Given the description of an element on the screen output the (x, y) to click on. 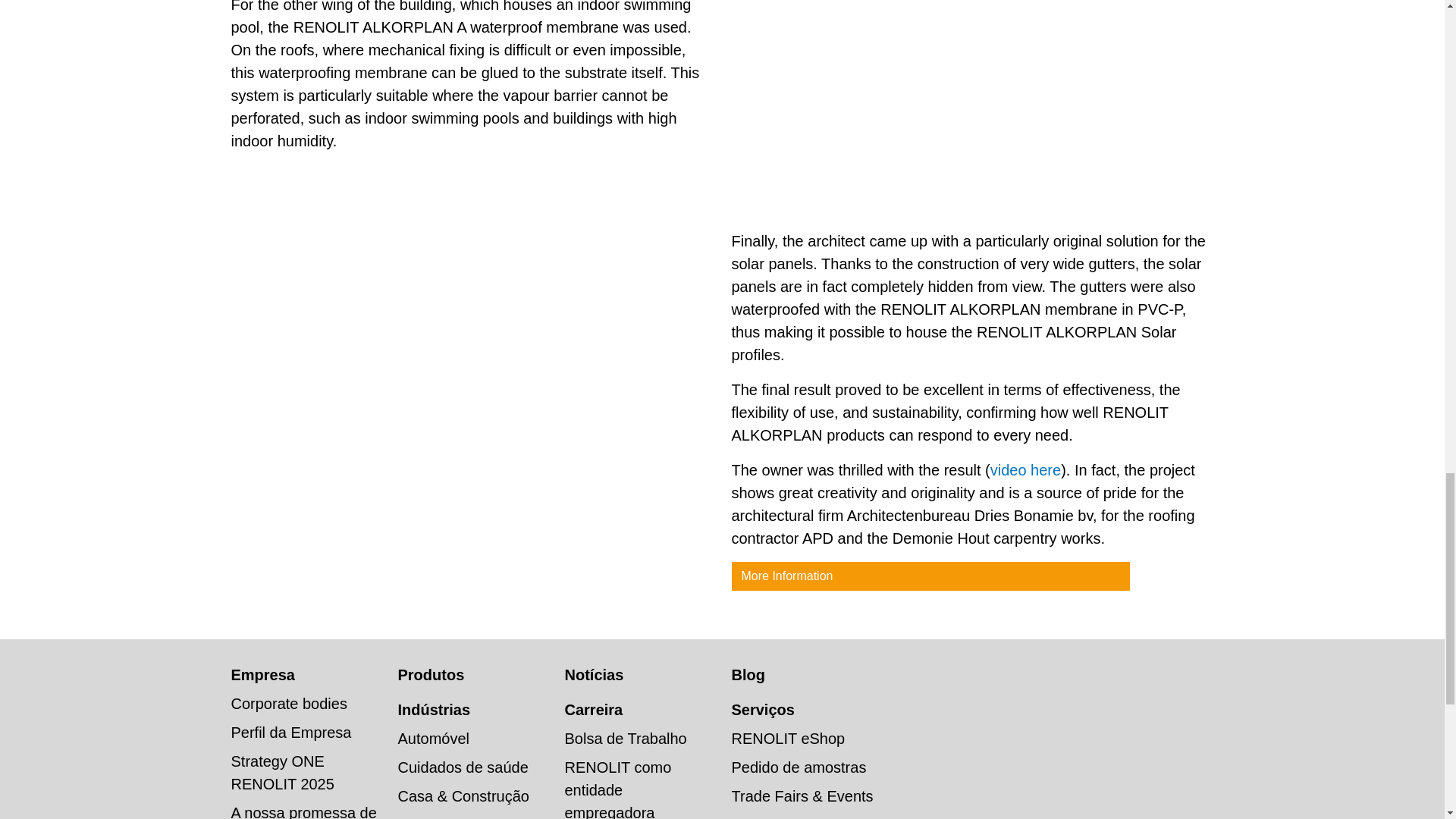
Perfil da Empresa (290, 732)
Produtos (430, 674)
A nossa promessa de marca (302, 811)
Empresa (262, 674)
Corporate bodies (288, 703)
Strategy ONE RENOLIT 2025 (281, 772)
